Given the description of an element on the screen output the (x, y) to click on. 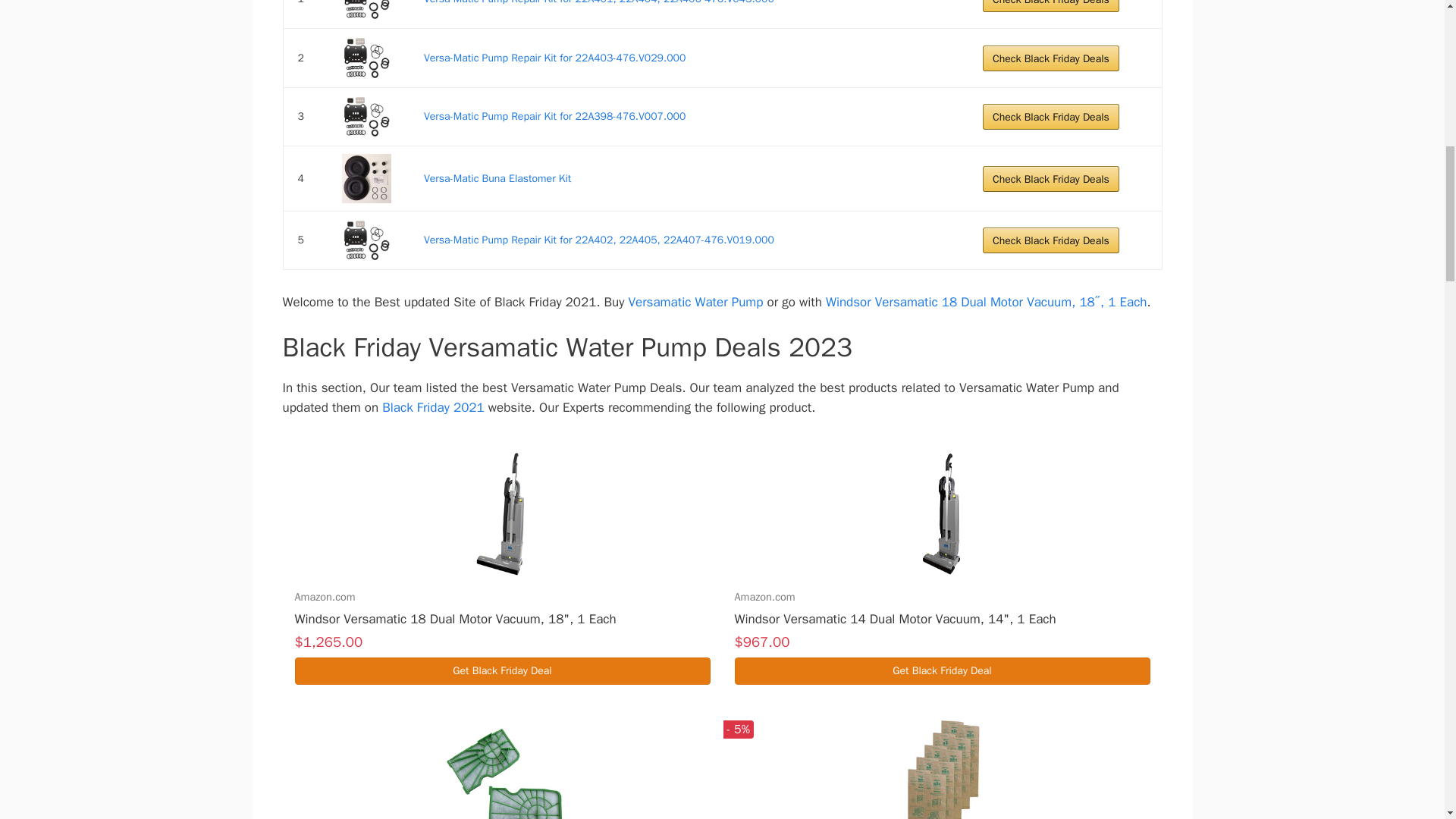
Versa-Matic Pump Repair Kit for 22A398-476.V007.000 (366, 116)
Check Black Friday Deals (1050, 58)
Versa-Matic Pump Repair Kit for 22A398-476.V007.000 (554, 115)
Versamatic Water Pump Black Friday 1 (366, 10)
Check Black Friday Deals (1050, 116)
Versa-Matic Pump Repair Kit for 22A403-476.V029.000 (554, 57)
Check Black Friday Deals (1050, 6)
Versamatic Water Pump Black Friday 2 (366, 57)
Versamatic Water Pump Black Friday 3 (366, 116)
Versa-Matic Pump Repair Kit for 22A403-476.V029.000 (366, 57)
Versa-Matic Buna Elastomer Kit (366, 178)
